Given the description of an element on the screen output the (x, y) to click on. 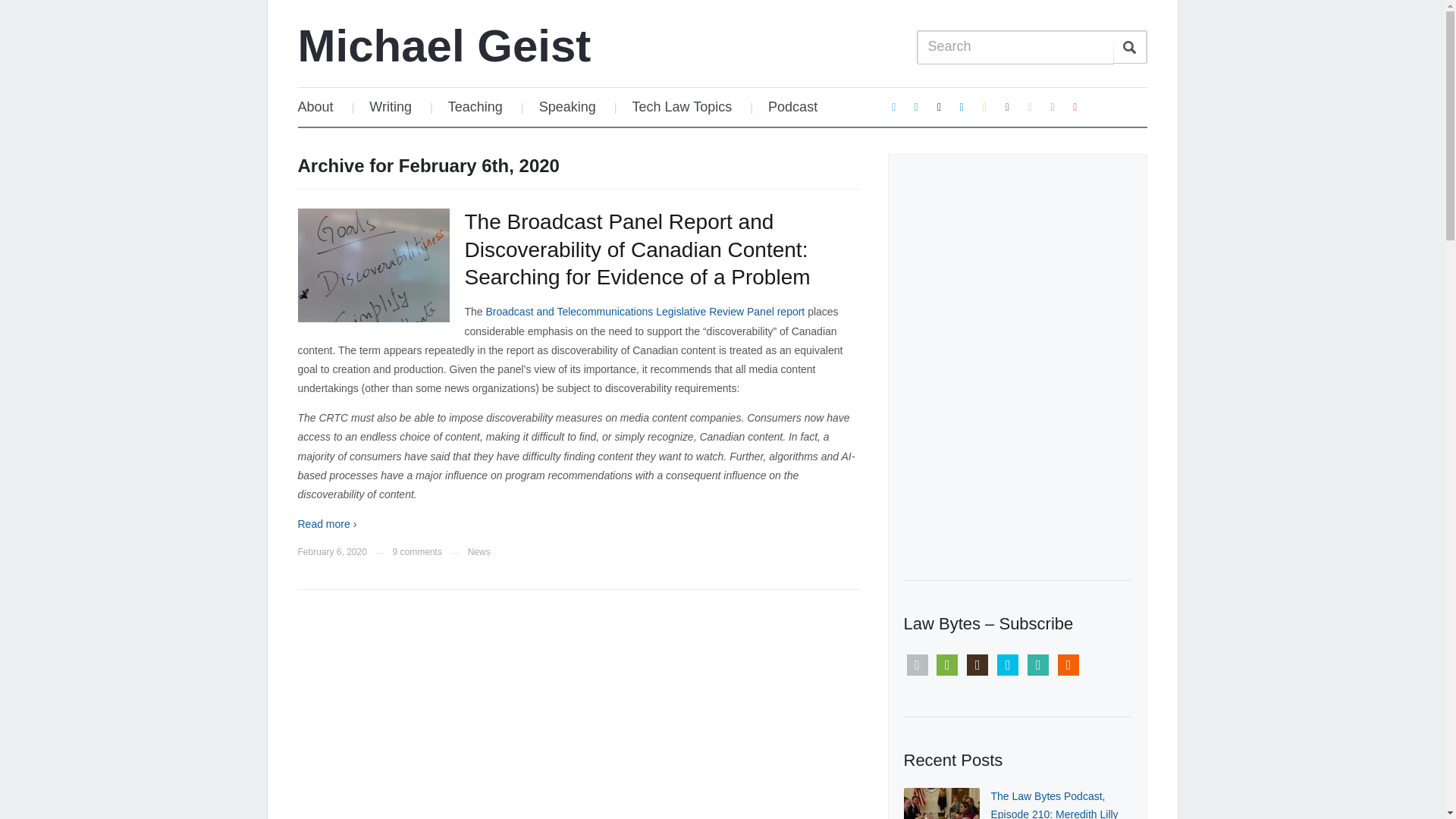
Podcast (792, 106)
Default Label (983, 106)
Default Label (1029, 106)
Michael Geist (444, 45)
Default Label (916, 106)
Search (1130, 46)
Writing (389, 106)
About (322, 106)
Default Label (1074, 106)
